Given the description of an element on the screen output the (x, y) to click on. 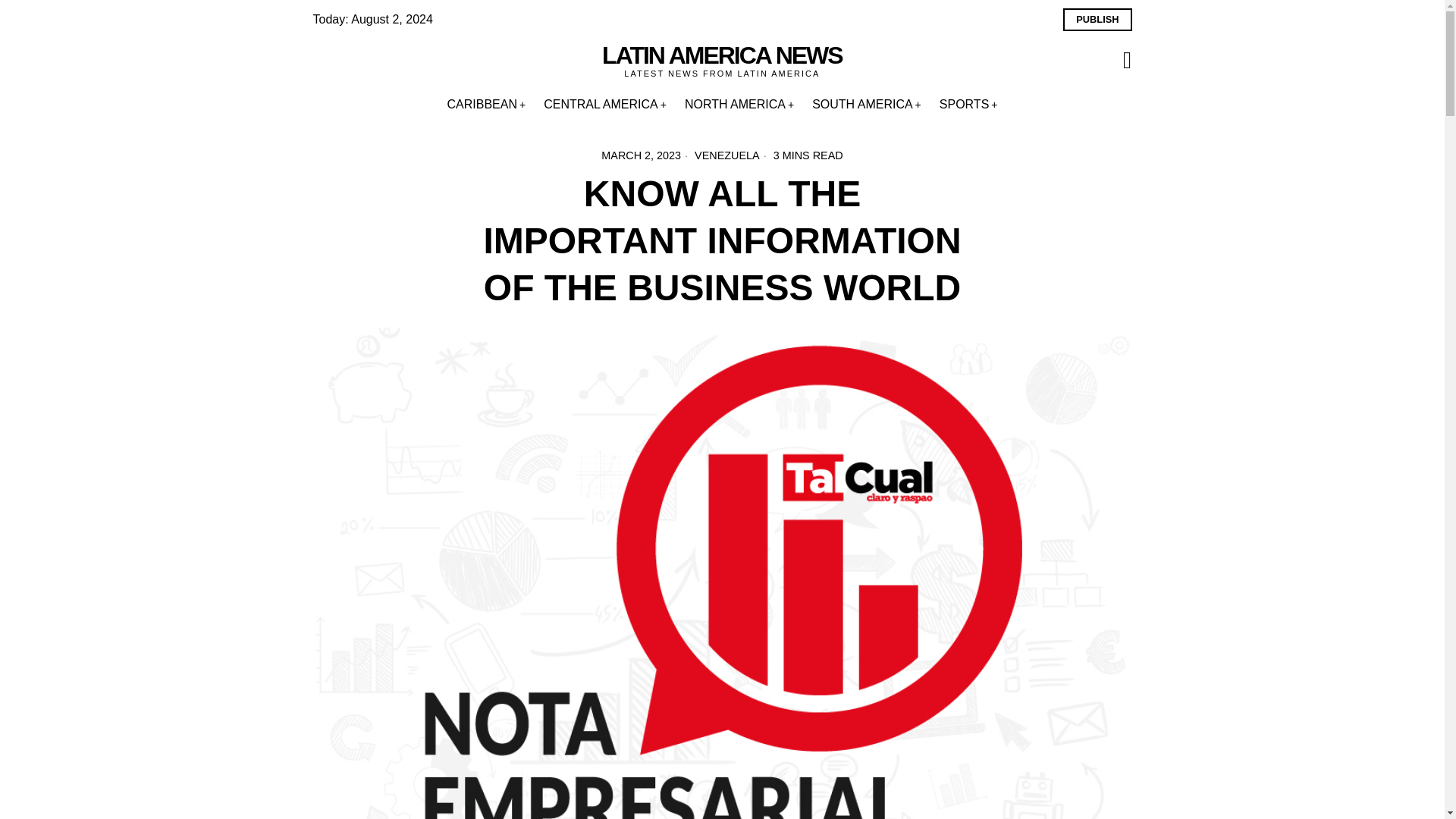
SOUTH AMERICA (866, 104)
SPORTS (968, 104)
VENEZUELA (727, 154)
CENTRAL AMERICA (604, 104)
02 Mar, 2023 21:56:00 (641, 154)
LATIN AMERICA NEWS (722, 55)
NORTH AMERICA (739, 104)
CARIBBEAN (486, 104)
PUBLISH (1096, 19)
